Given the description of an element on the screen output the (x, y) to click on. 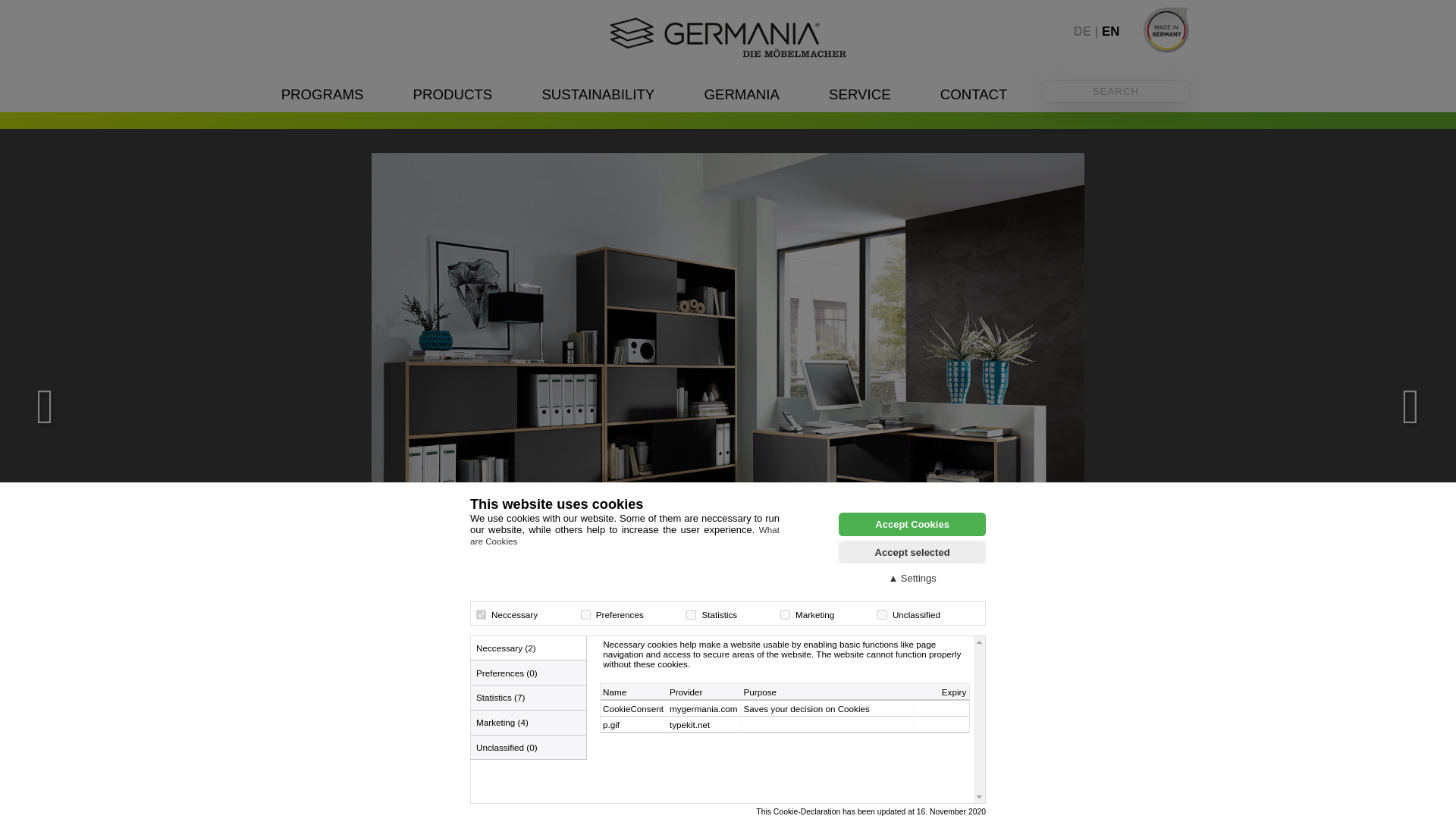
sustainability (597, 94)
Products (452, 94)
Contact (974, 94)
on (690, 614)
on (881, 614)
PROGRAMS (321, 94)
on (785, 614)
SUSTAINABILITY (597, 94)
Service (858, 94)
on (585, 614)
